Given the description of an element on the screen output the (x, y) to click on. 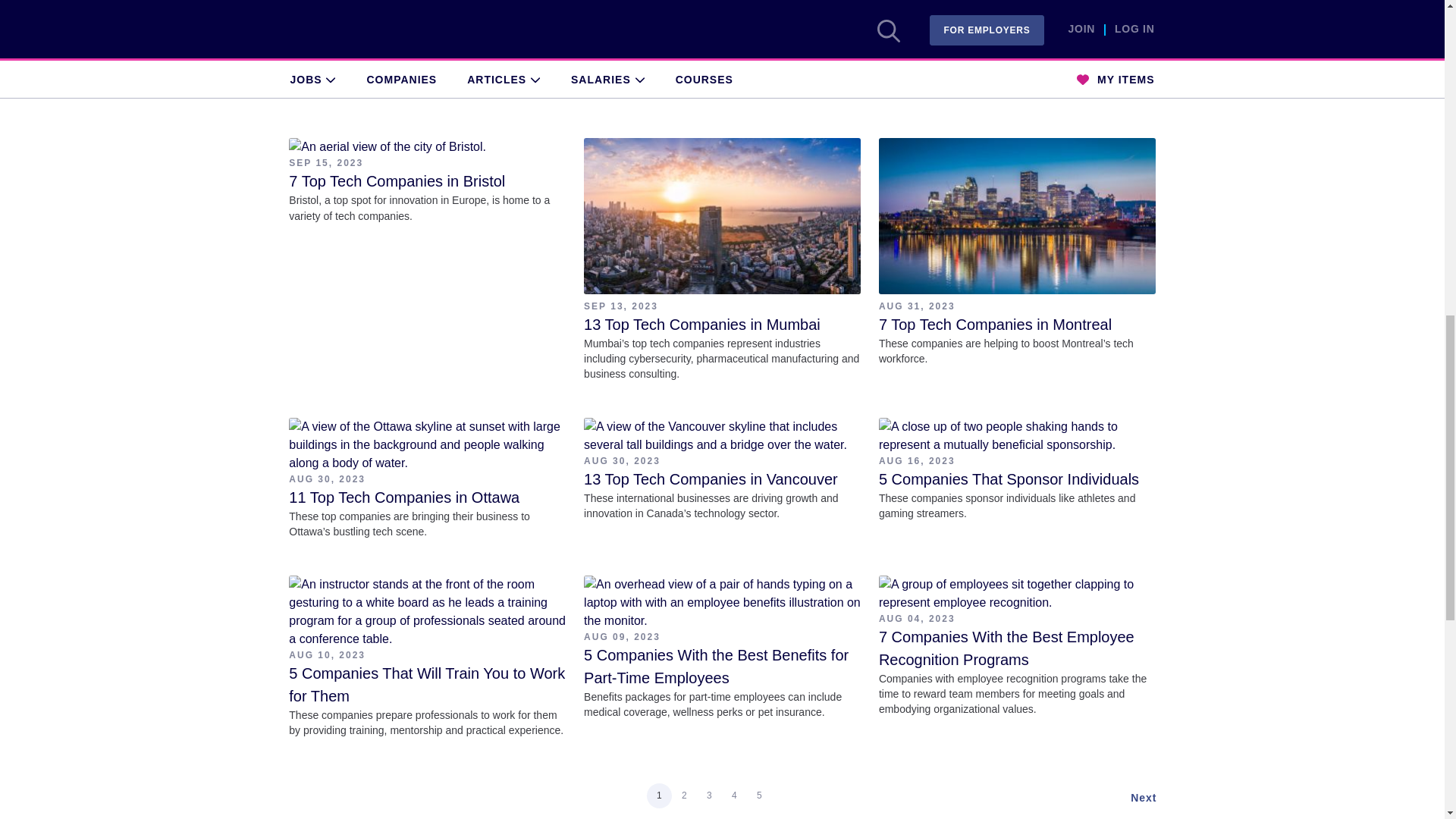
7 Top Tech Companies in Bristol (396, 180)
7 Companies With the Best Employee Recognition Programs (1006, 648)
5 Companies That Will Train You to Work for Them (426, 684)
13 Top Tech Companies in Mumbai (702, 324)
Go to next page (1143, 797)
7 Top Tech Companies in Montreal (995, 324)
77 Companies Hiring Software Engineers (981, 33)
13 Top Tech Companies in Vancouver (710, 478)
Go to page 4 (734, 795)
Go to page 5 (758, 795)
Go to page 2 (684, 795)
5 Companies With the Best Benefits for Part-Time Employees (715, 666)
Go to page 3 (709, 795)
5 App Development Companies in the UK to Know (415, 33)
Current page (658, 795)
